Given the description of an element on the screen output the (x, y) to click on. 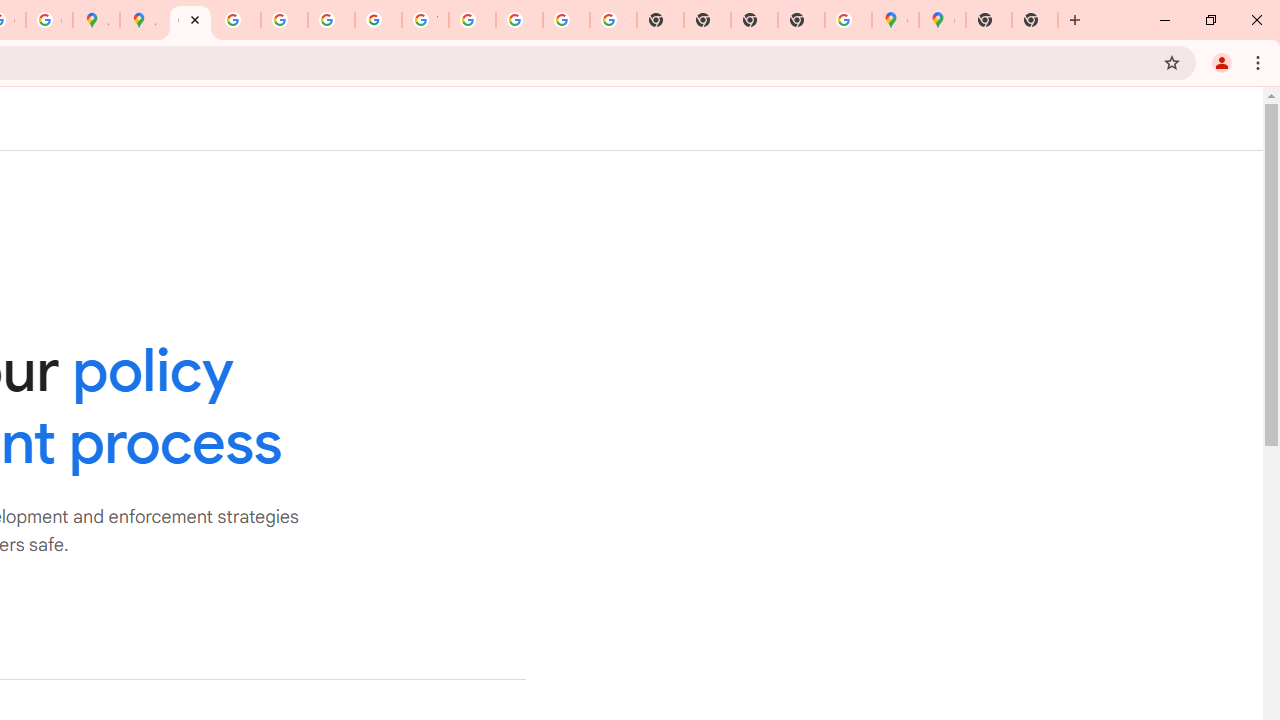
Privacy Help Center - Policies Help (237, 20)
YouTube (425, 20)
Google Maps (942, 20)
